Given the description of an element on the screen output the (x, y) to click on. 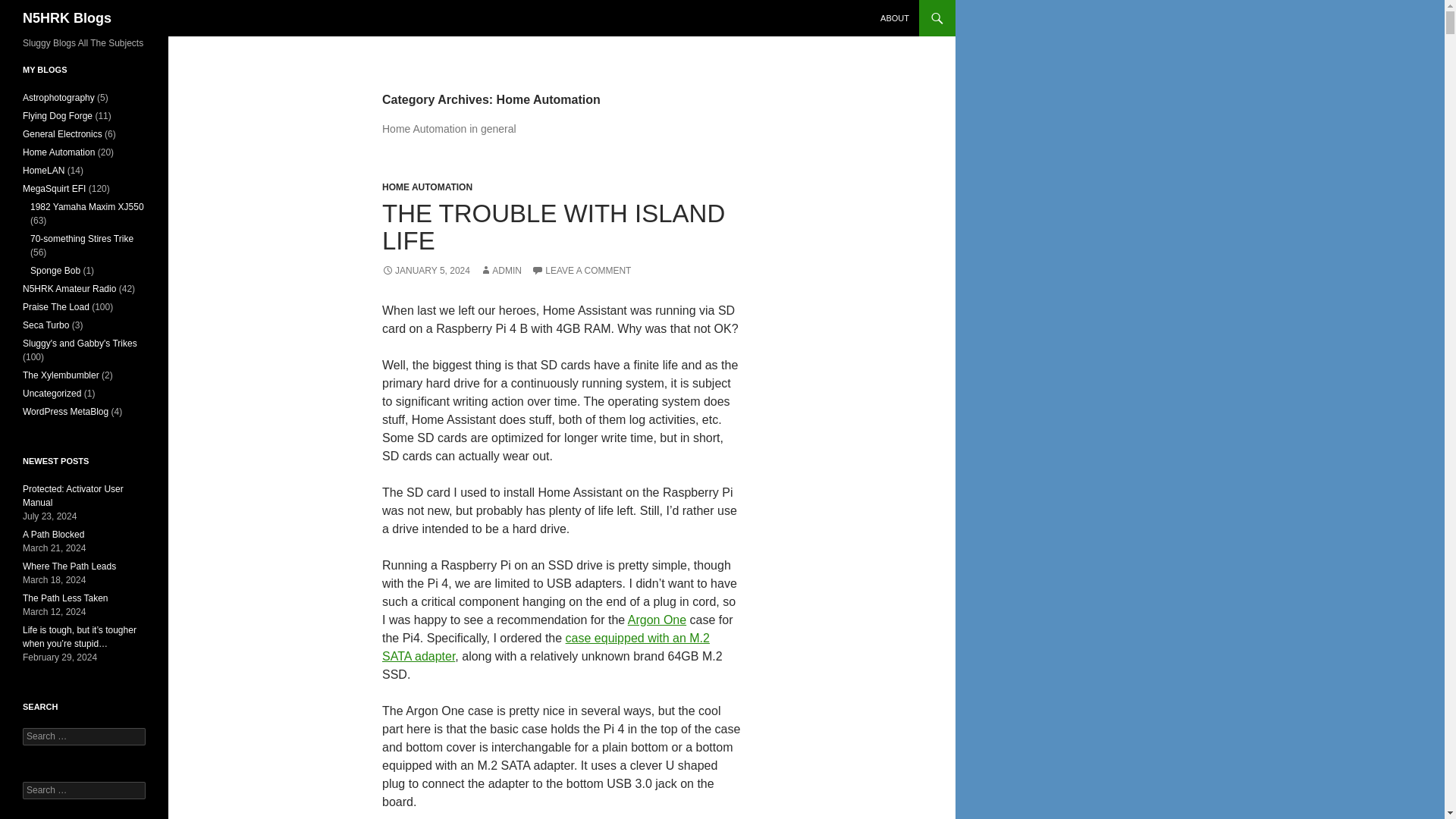
LEAVE A COMMENT (580, 270)
THE TROUBLE WITH ISLAND LIFE (553, 226)
ABOUT (894, 18)
case equipped with an M.2 SATA adapter (545, 646)
N5HRK Blogs (67, 18)
HOME AUTOMATION (426, 186)
Argon One (656, 619)
JANUARY 5, 2024 (425, 270)
ADMIN (500, 270)
